Given the description of an element on the screen output the (x, y) to click on. 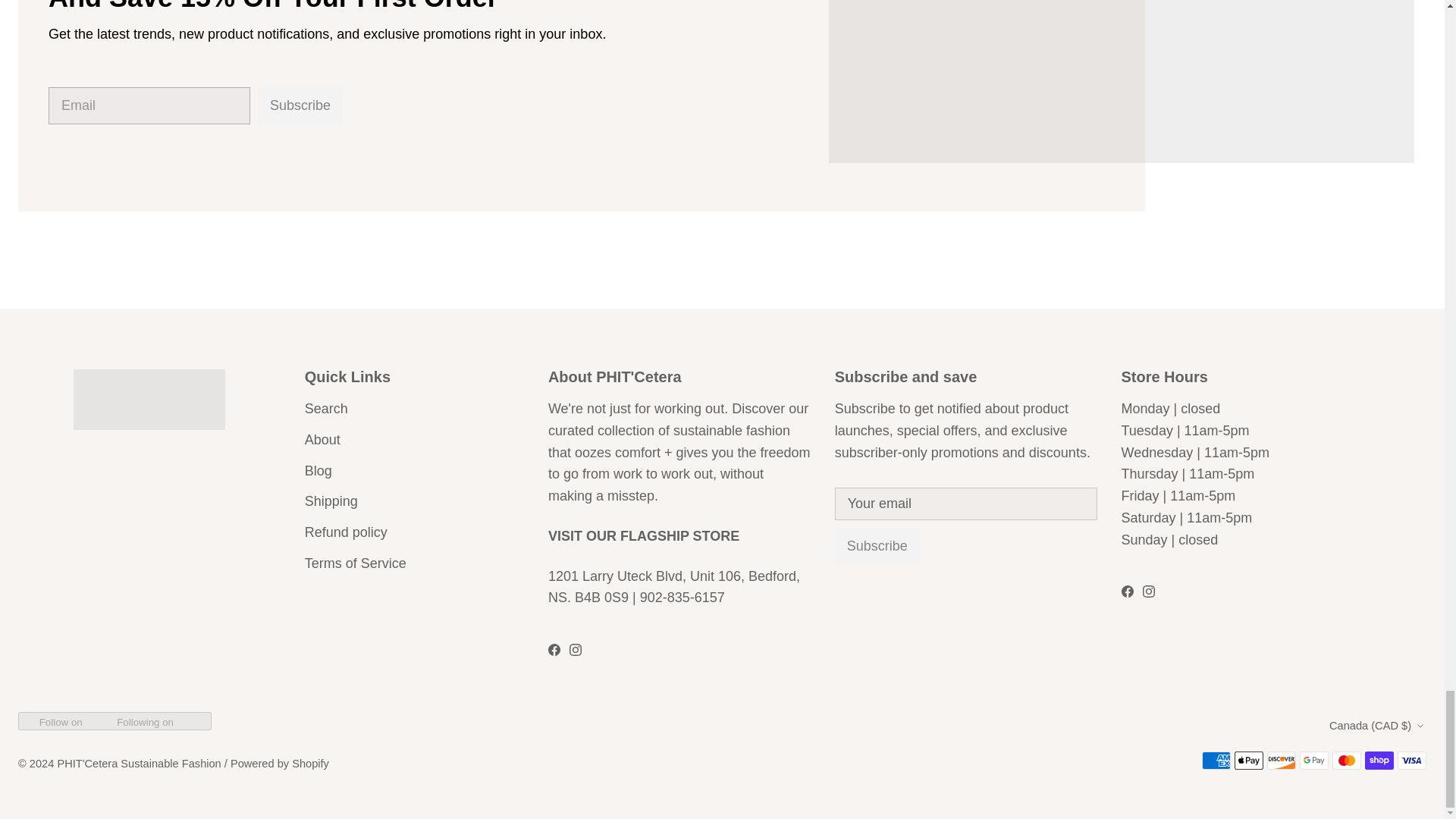
Visa (1411, 760)
Shop Pay (1379, 760)
Mastercard (1346, 760)
Google Pay (1313, 760)
Apple Pay (1248, 760)
American Express (1216, 760)
Discover (1280, 760)
